Given the description of an element on the screen output the (x, y) to click on. 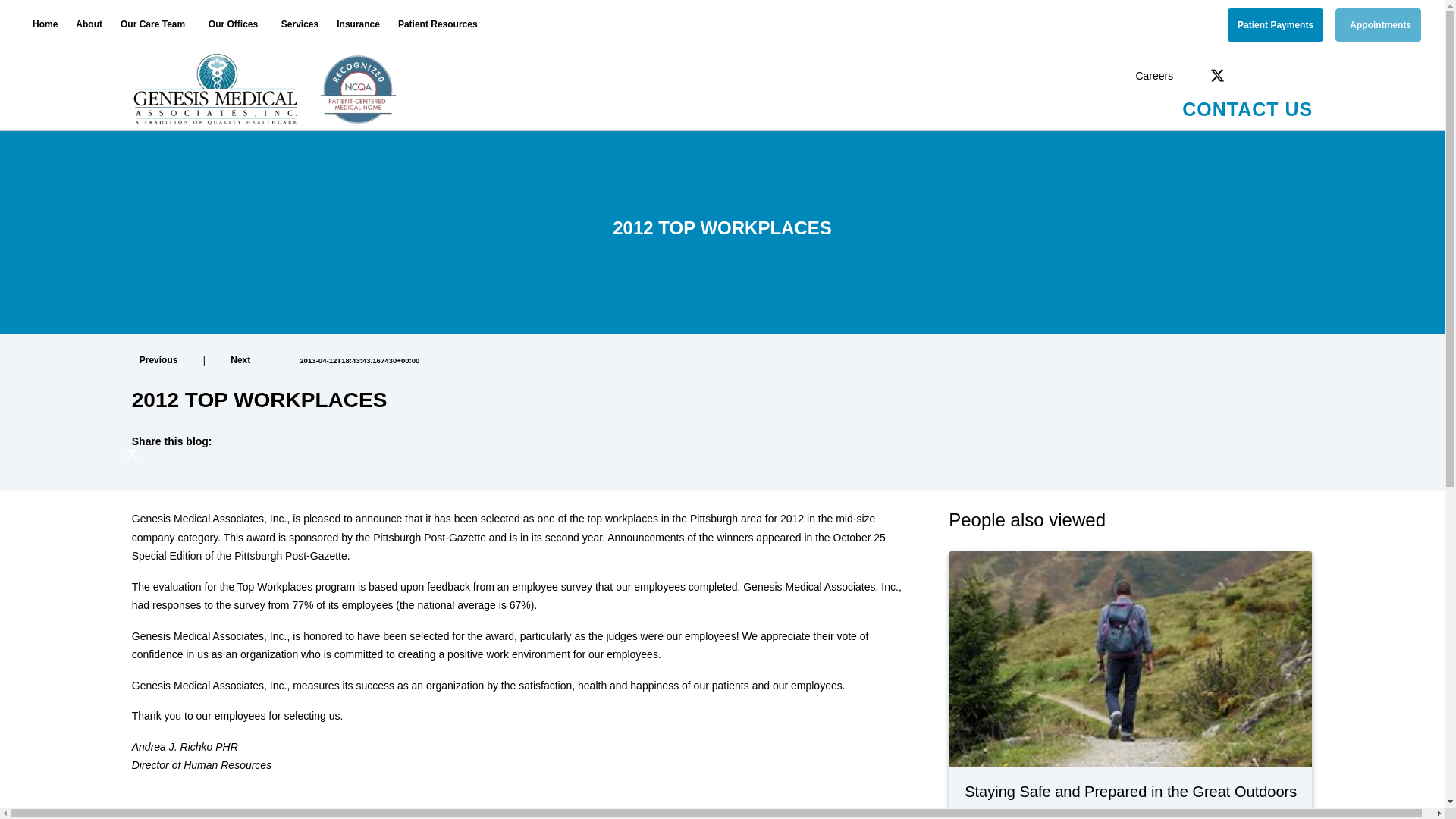
Our Offices   (235, 24)
About (89, 24)
Our Care Team   (155, 24)
